Given the description of an element on the screen output the (x, y) to click on. 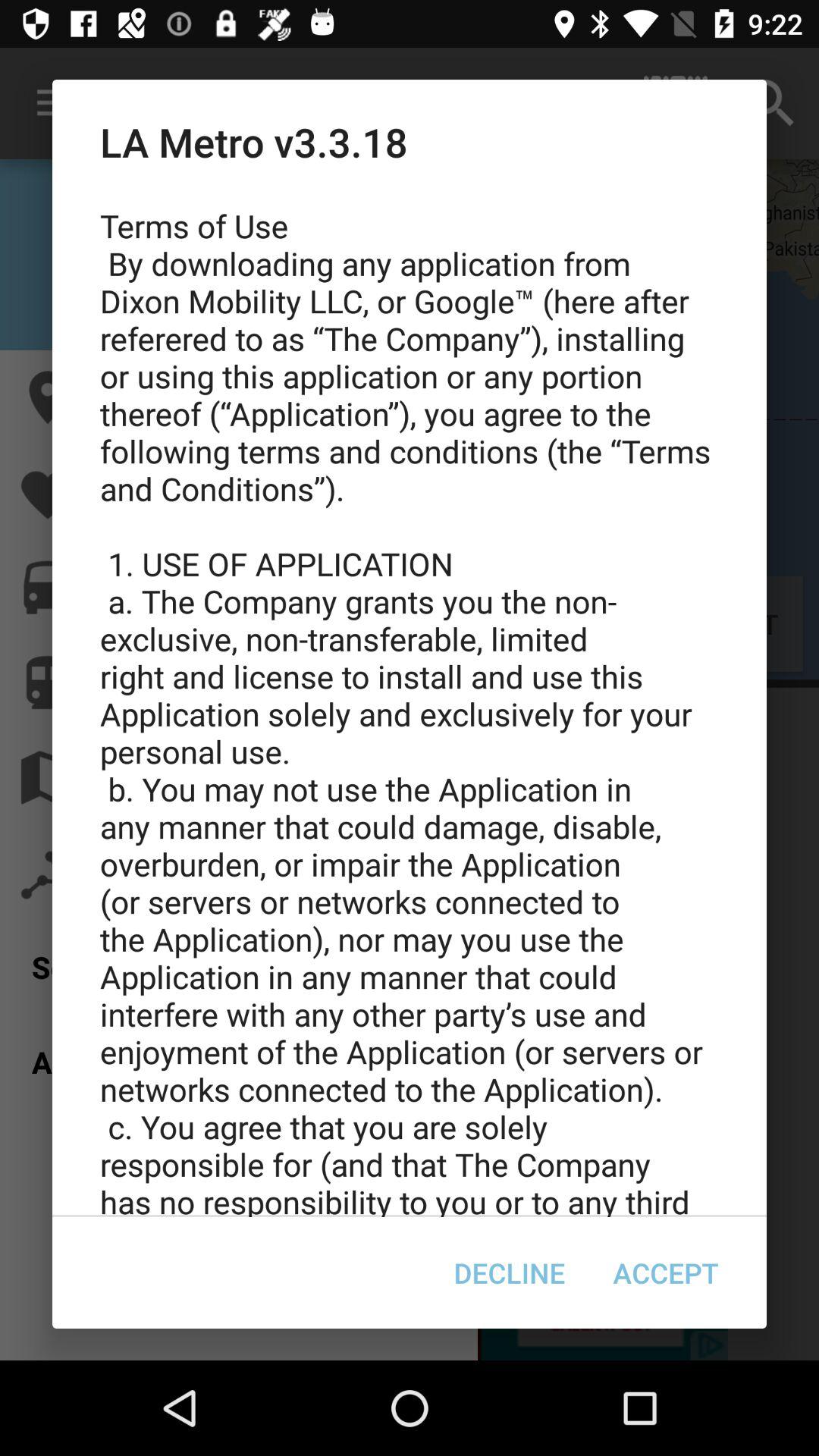
jump to accept icon (665, 1272)
